Given the description of an element on the screen output the (x, y) to click on. 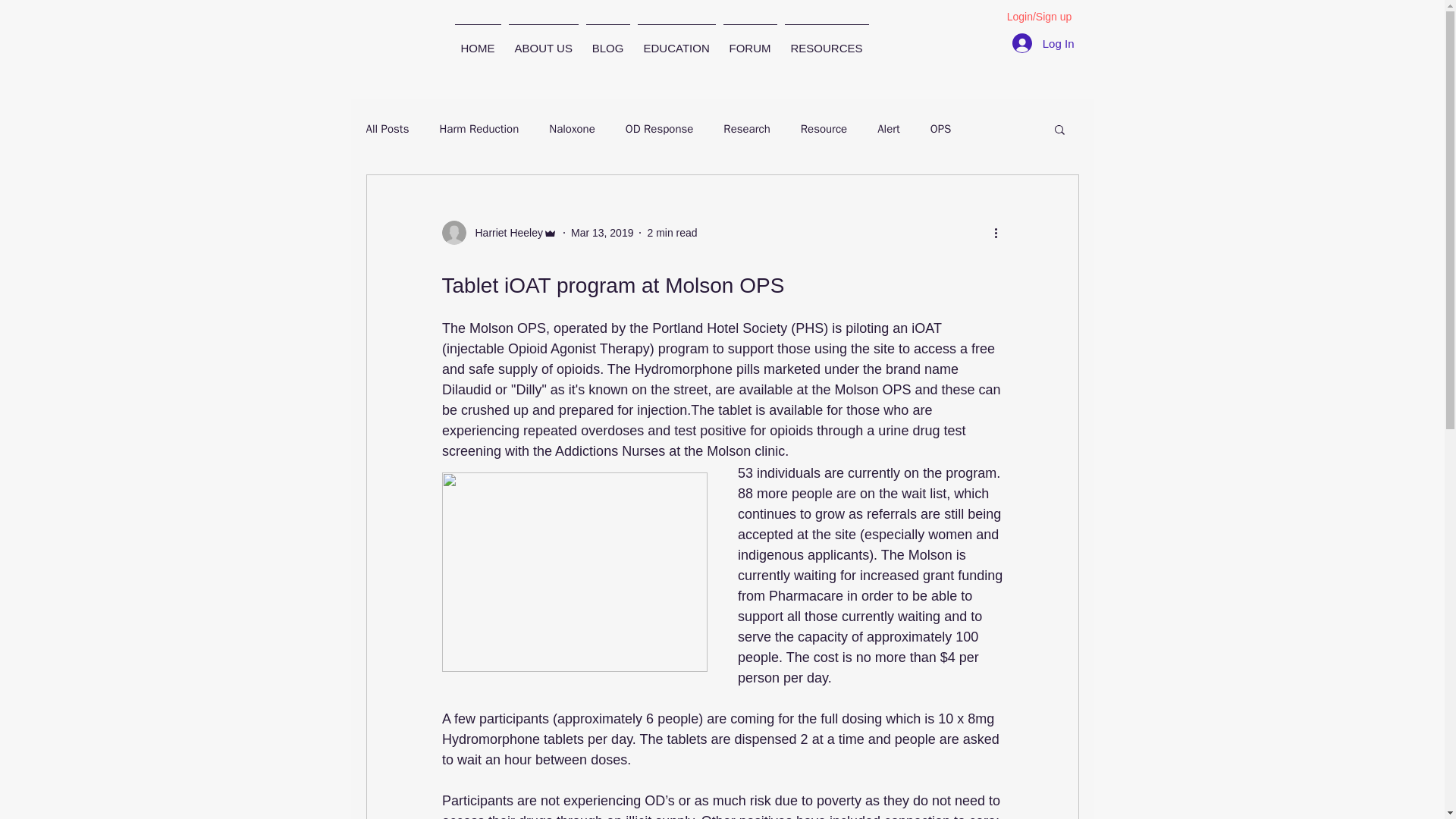
Naloxone (571, 128)
Log In (1042, 42)
Harm Reduction (478, 128)
Mar 13, 2019 (601, 232)
EDUCATION (676, 41)
Alert (888, 128)
FORUM (749, 41)
2 min read (671, 232)
All Posts (387, 128)
HOME (476, 41)
